Given the description of an element on the screen output the (x, y) to click on. 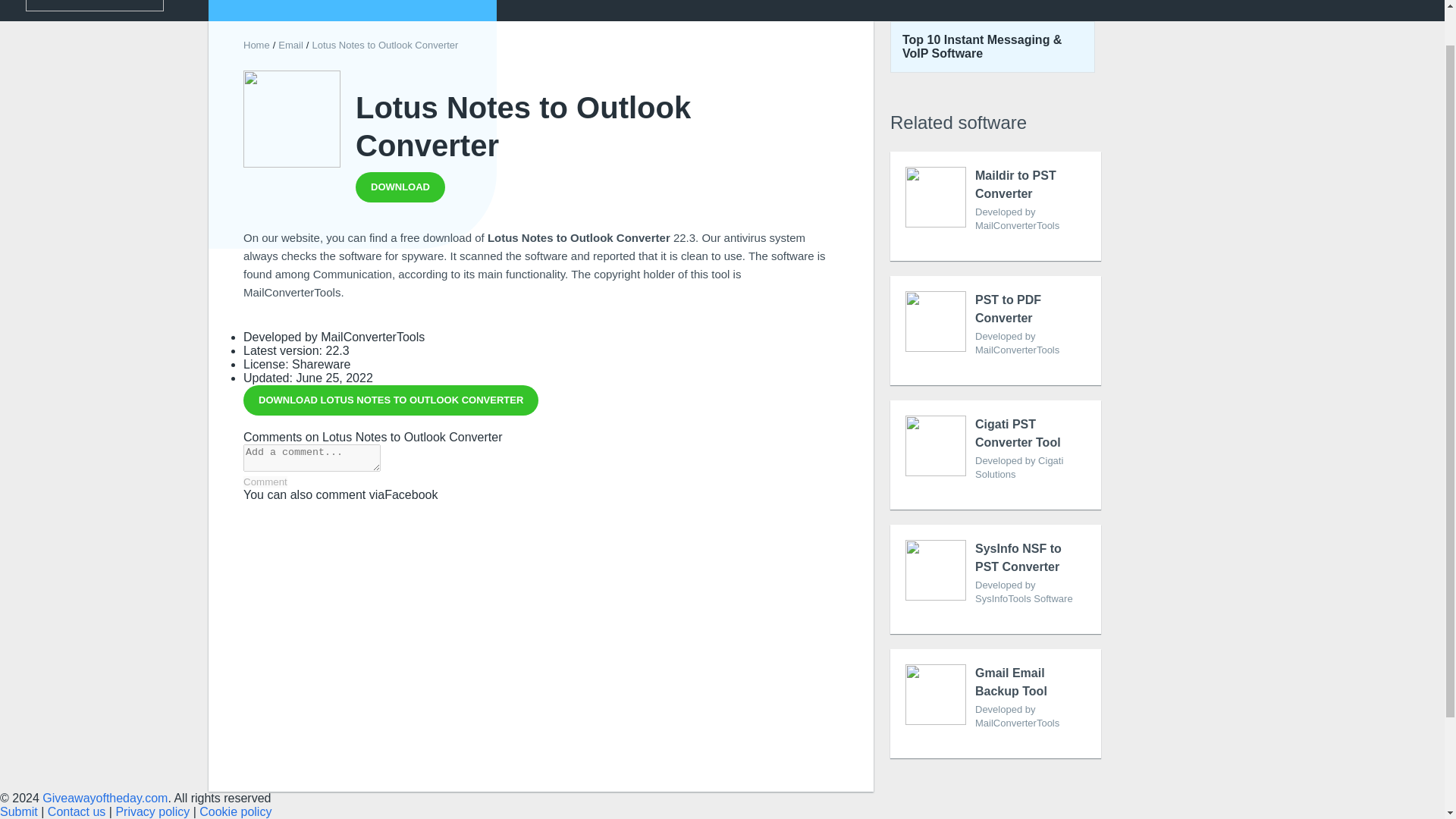
Contact us (76, 811)
Download Lotus Notes to Outlook Converter 22.3 for free (994, 703)
Email Software for Windows (390, 399)
Comment (290, 44)
Cookie policy (264, 481)
DOWNLOAD (234, 811)
Privacy policy (400, 186)
Submit (994, 206)
Comment (994, 454)
Download Lotus Notes to Outlook Converter 22.3 for free (152, 811)
